Given the description of an element on the screen output the (x, y) to click on. 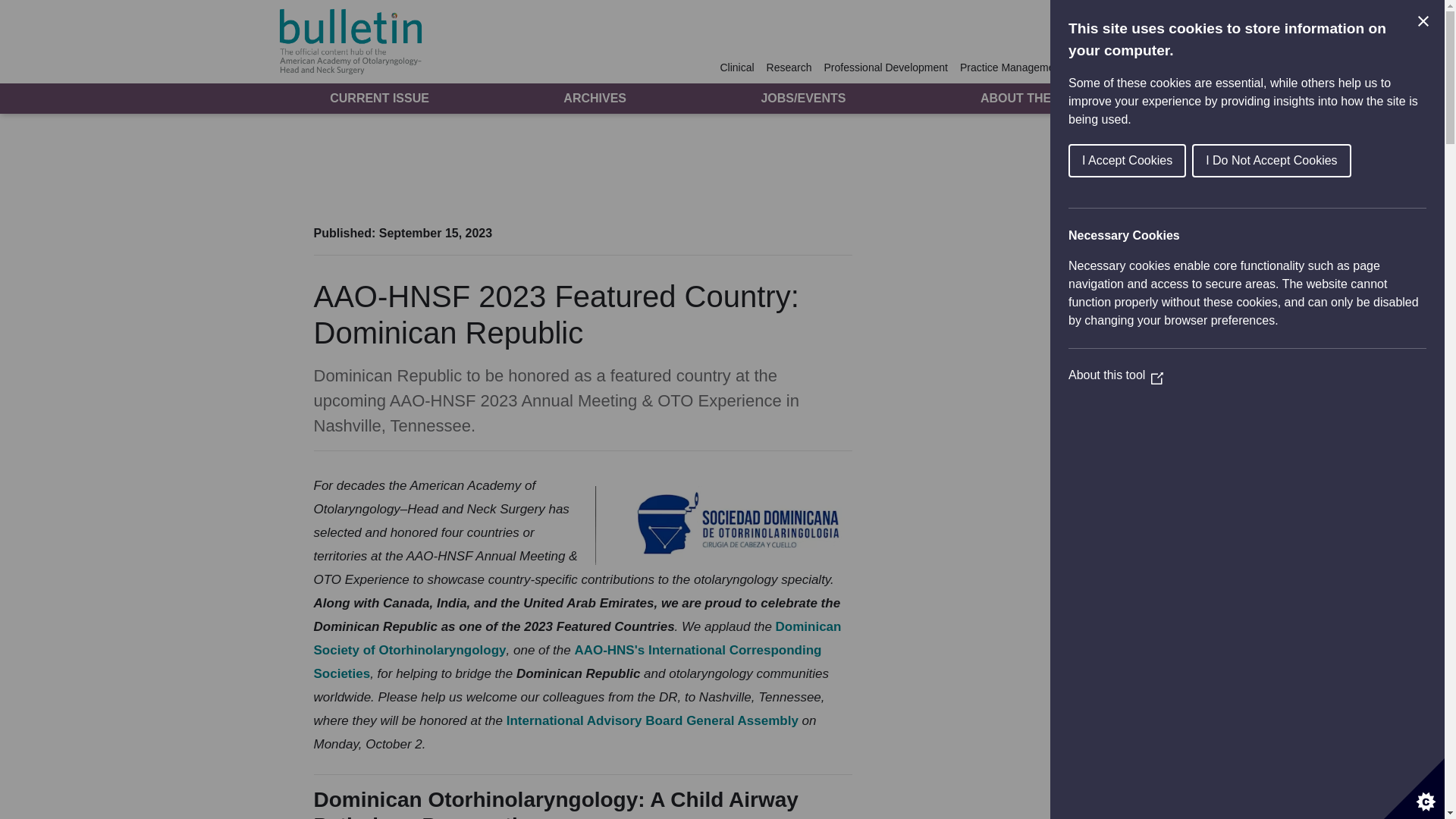
3rd party ad content (1000, 319)
Dominican Society of Otorhinolaryngology (577, 638)
Research (789, 67)
ABOUT THE BULLETIN (1046, 98)
Search (1139, 67)
Clinical (739, 67)
Advertise (1093, 67)
3rd party ad content (721, 165)
ARCHIVES (595, 98)
AAO-HNS's International Corresponding Societies (568, 661)
